Given the description of an element on the screen output the (x, y) to click on. 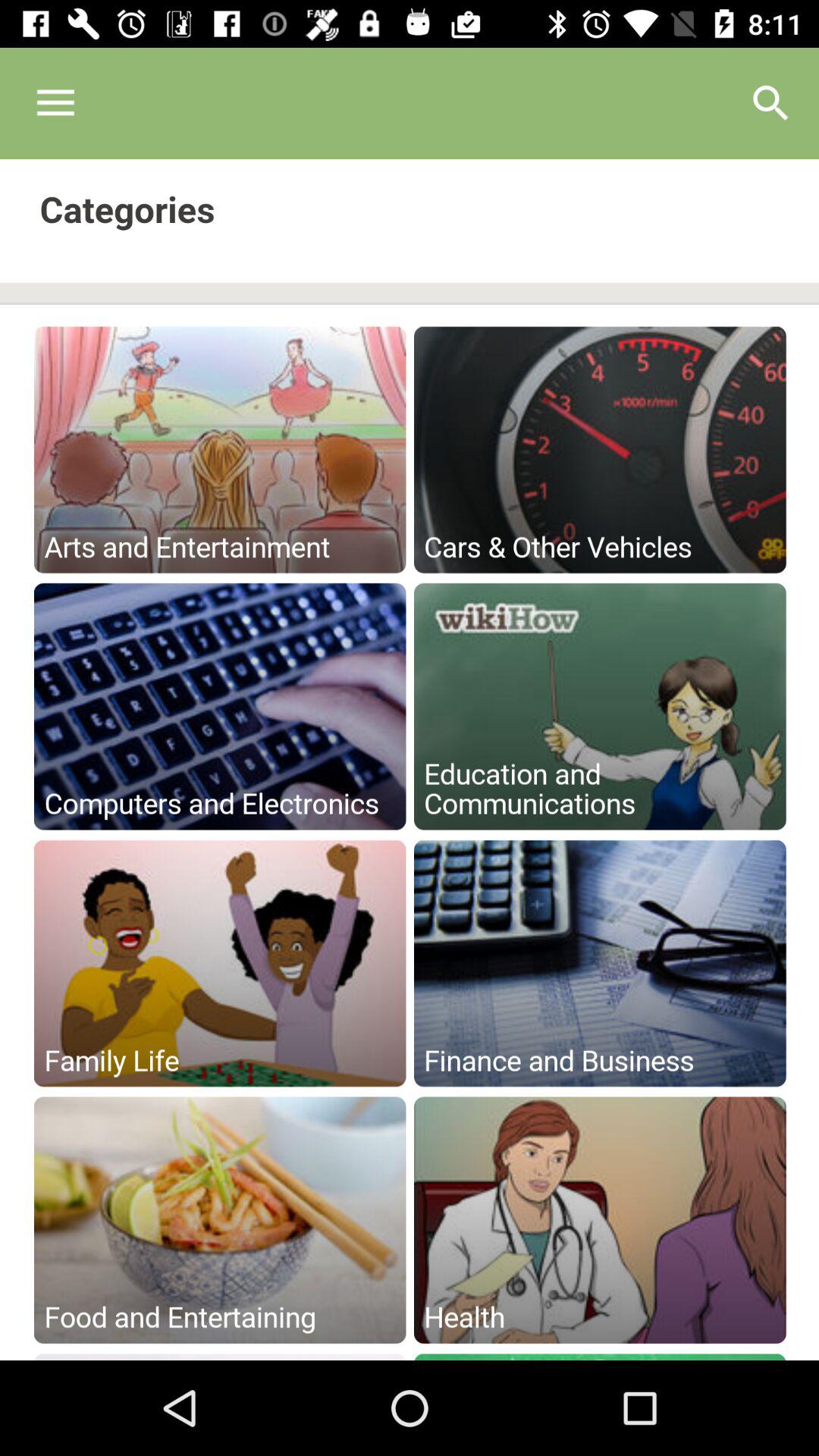
description (409, 759)
